Given the description of an element on the screen output the (x, y) to click on. 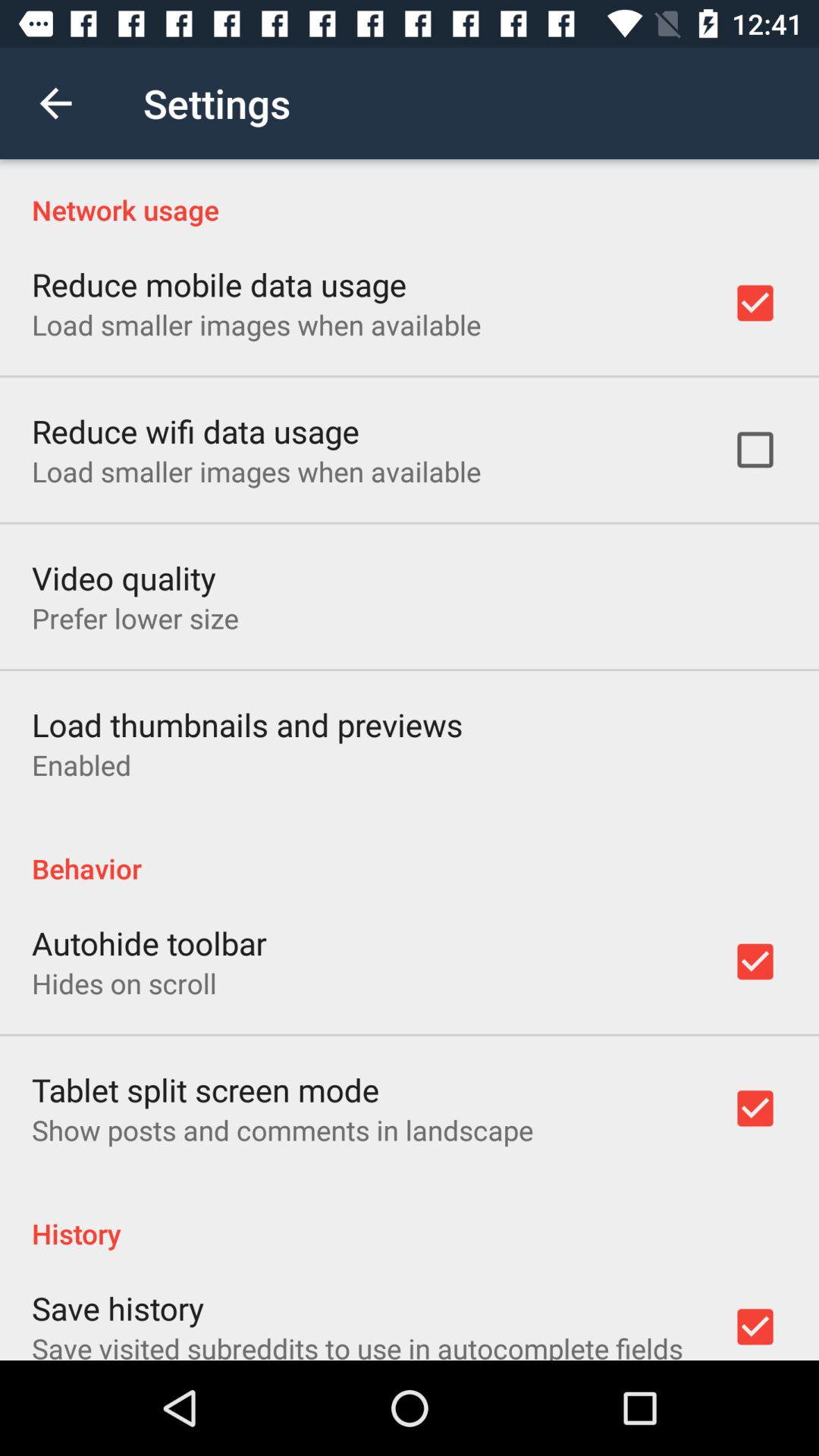
turn off save history icon (117, 1307)
